Given the description of an element on the screen output the (x, y) to click on. 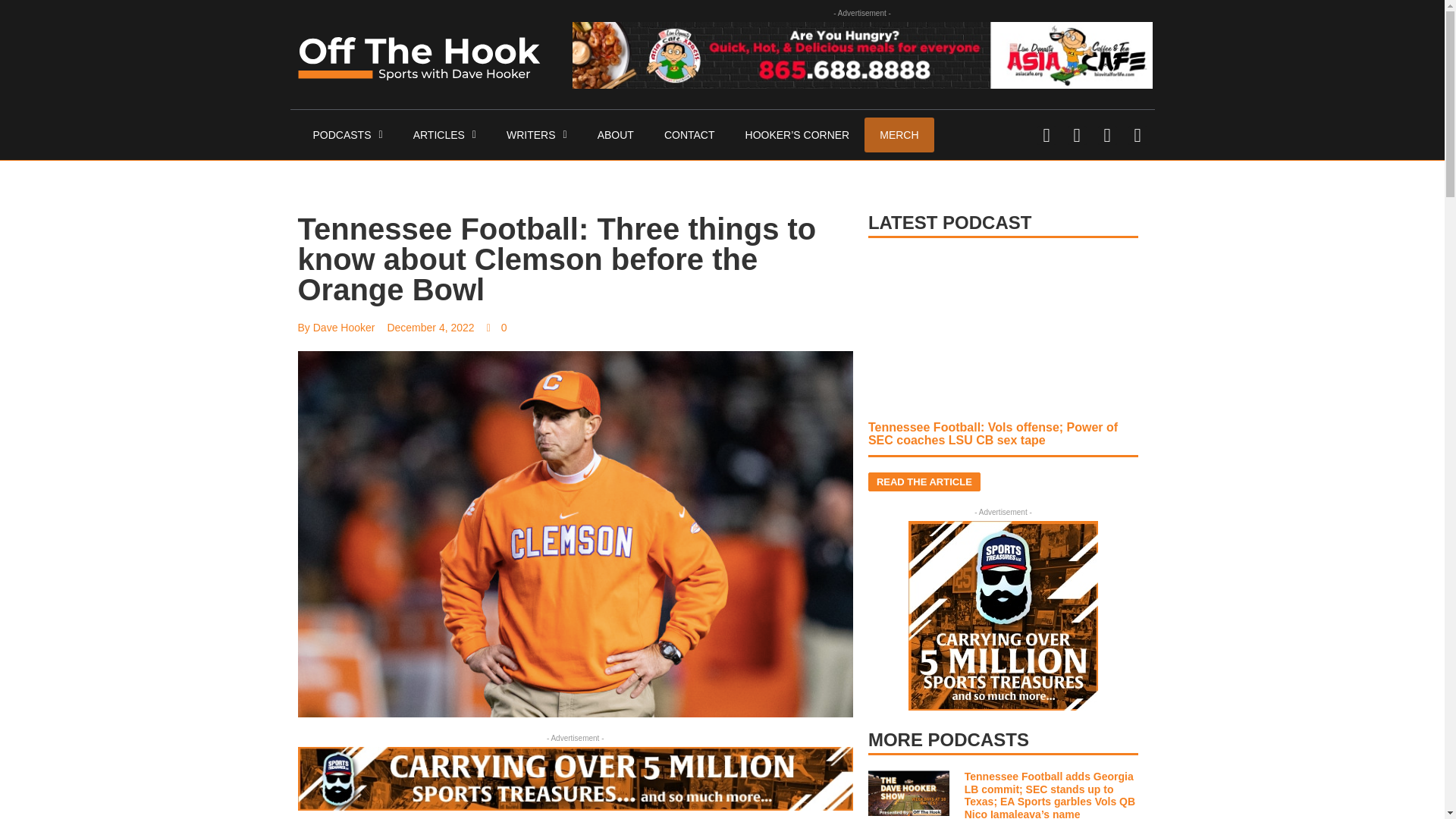
CONTACT (689, 134)
WRITERS (537, 134)
MERCH (898, 134)
ABOUT (615, 134)
ARTICLES (444, 134)
PODCASTS (347, 134)
